Given the description of an element on the screen output the (x, y) to click on. 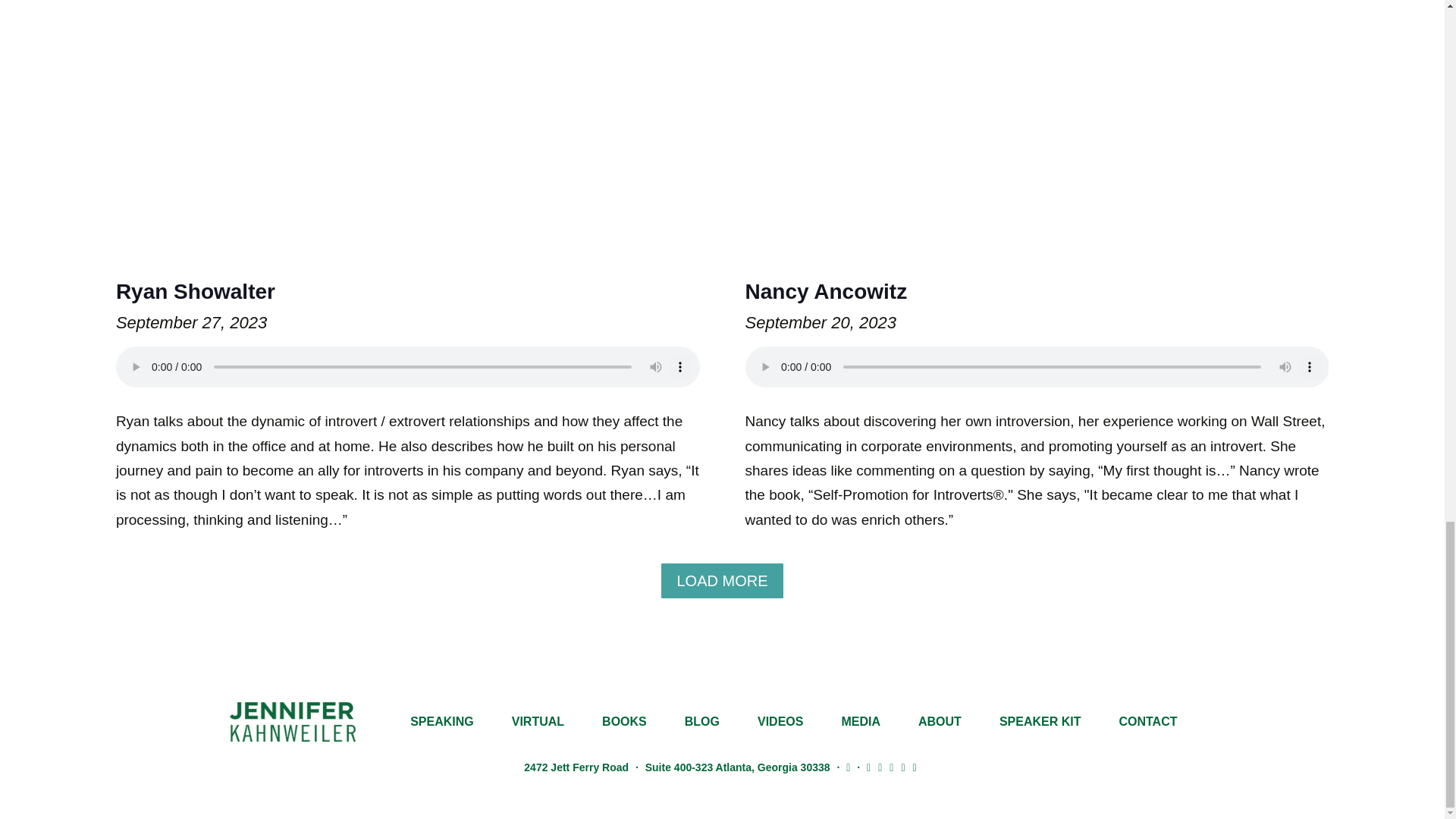
Follow Jennifer Kahnweiler on YouTube (914, 767)
jk-logo-green-400 (291, 721)
Follow Jennifer Kahnweiler on LinkedIn (869, 767)
Follow Jennifer Kahnweiler on Instagram (890, 767)
Follow Jennifer Kahnweiler on Twitter (880, 767)
Follow Jennifer Kahnweiler on Facebook (902, 767)
